Given the description of an element on the screen output the (x, y) to click on. 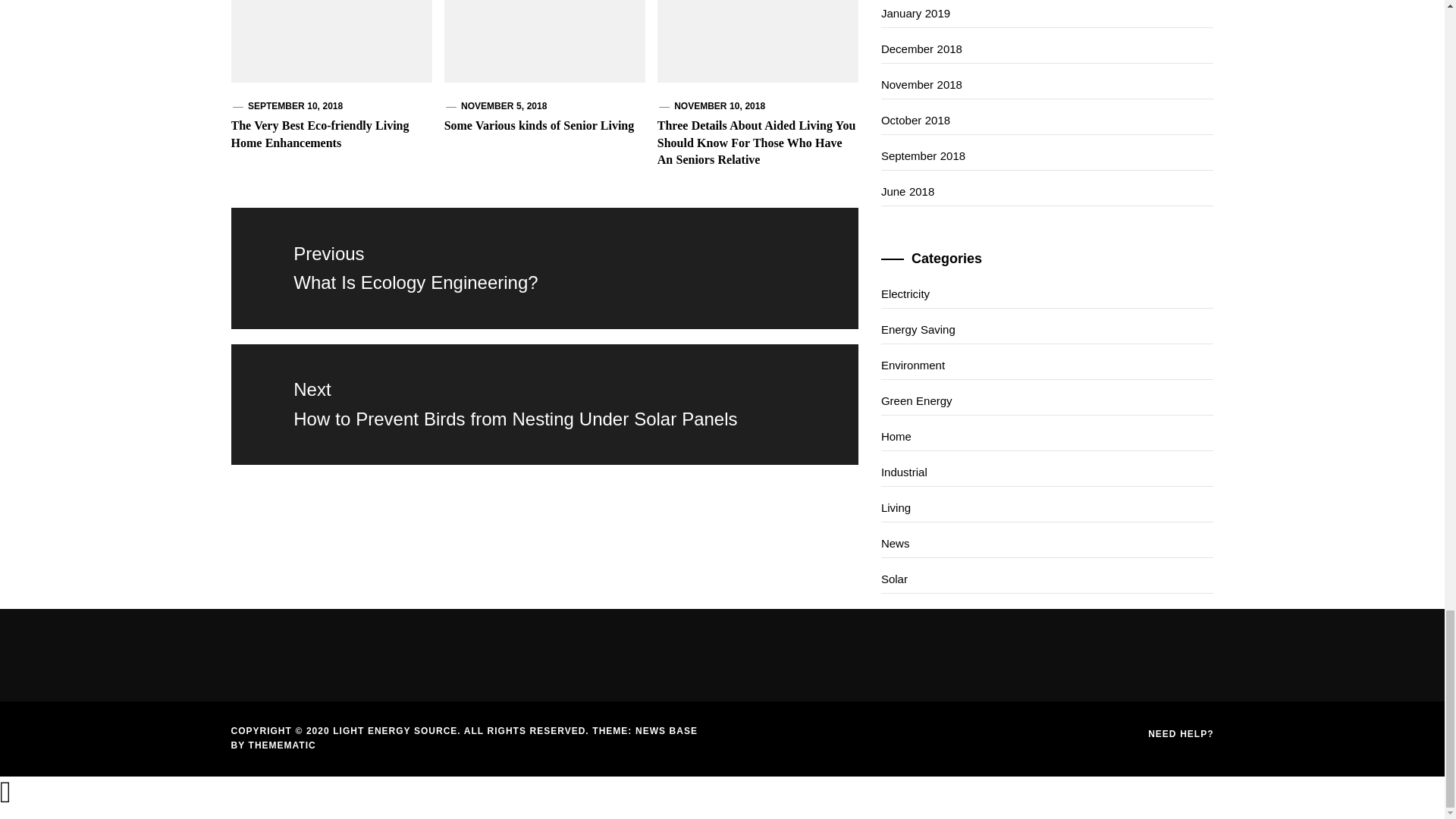
NOVEMBER 5, 2018 (504, 105)
The Very Best Eco-friendly Living Home Enhancements (543, 268)
NOVEMBER 10, 2018 (319, 133)
Some Various kinds of Senior Living (719, 105)
SEPTEMBER 10, 2018 (539, 124)
